Given the description of an element on the screen output the (x, y) to click on. 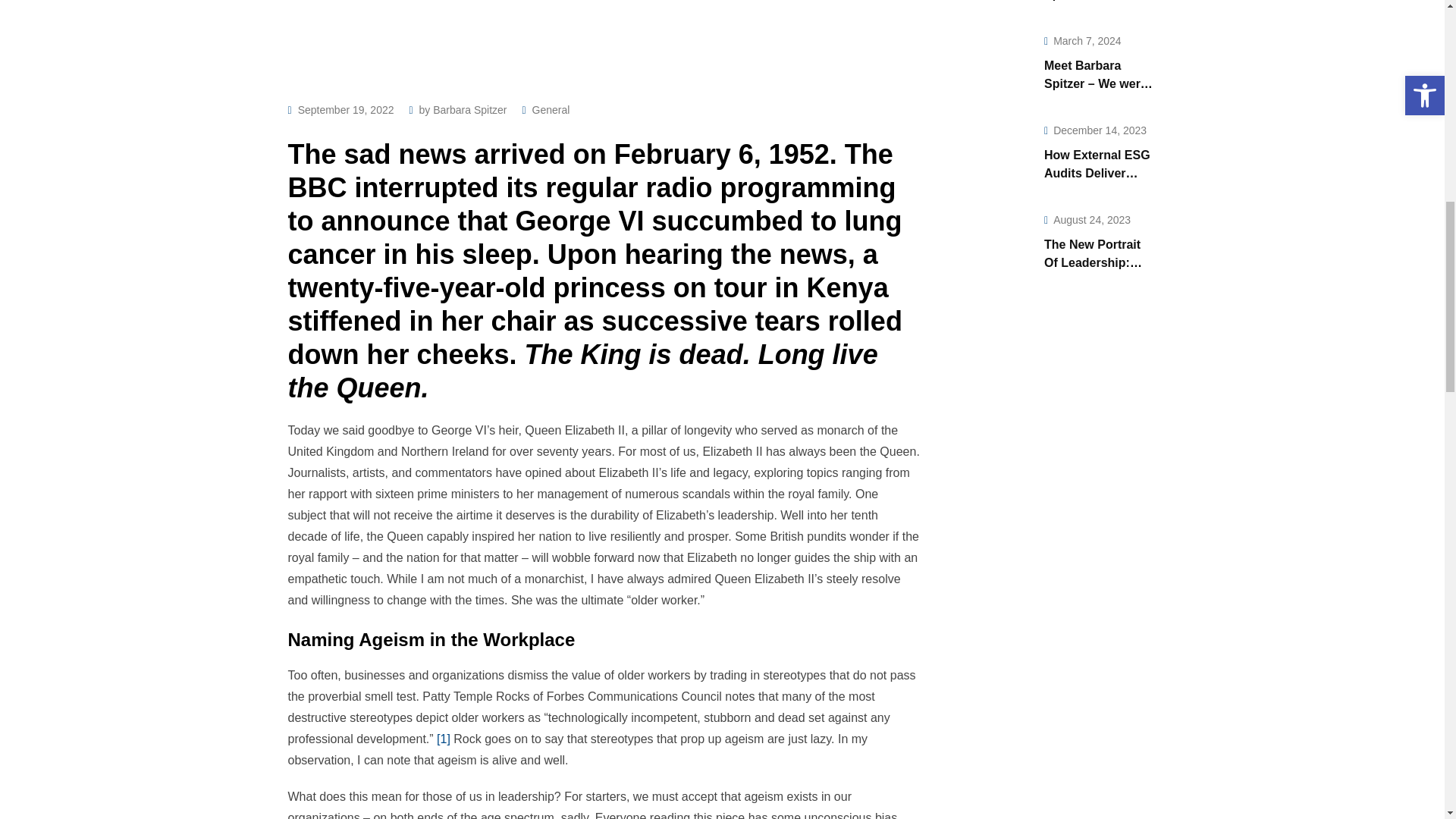
TOP (1410, 60)
Barbara Spitzer (469, 110)
Meet Barbara Spitzer (991, 3)
General (551, 110)
Posts by Barbara Spitzer (469, 110)
